Given the description of an element on the screen output the (x, y) to click on. 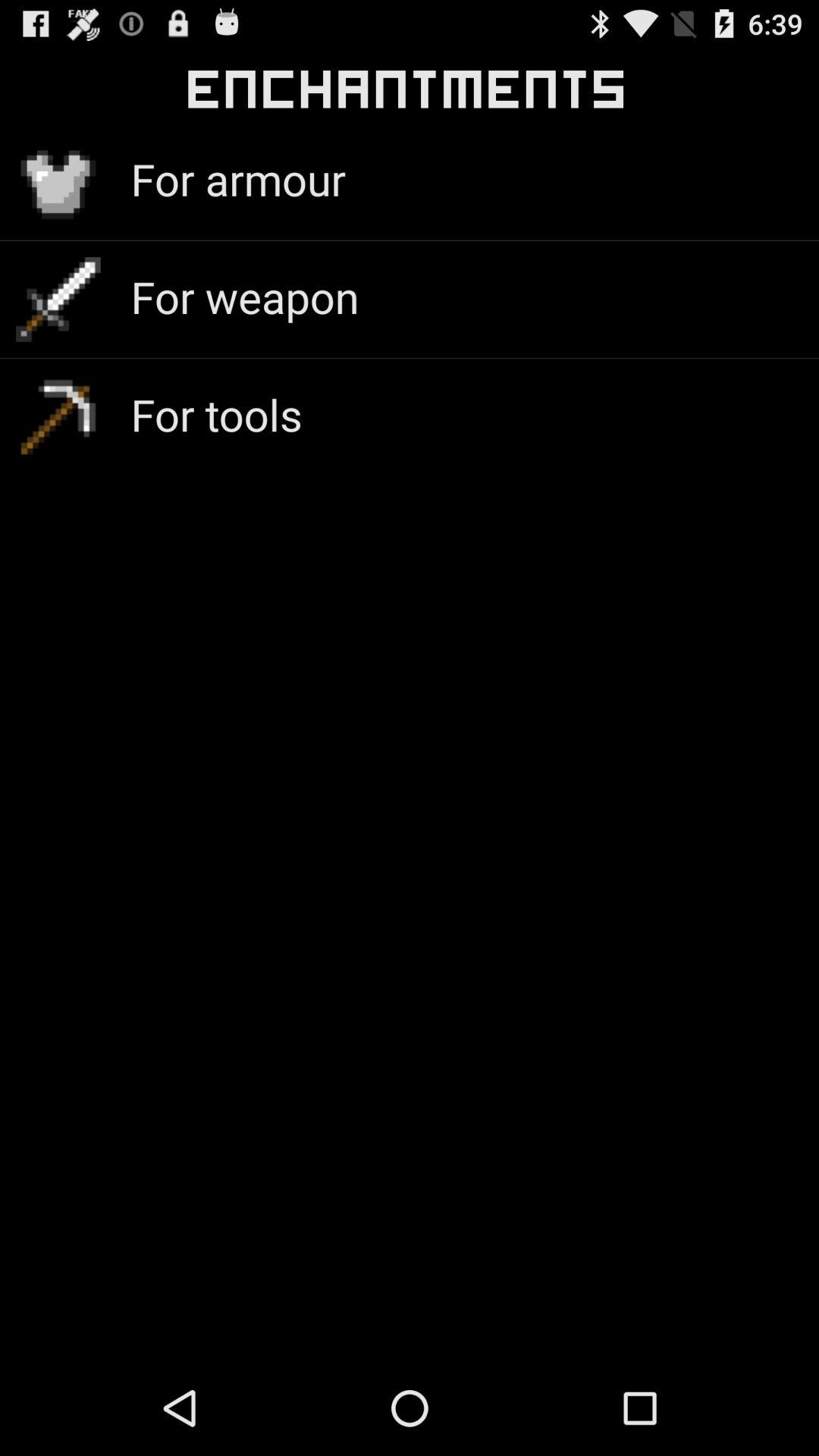
tap for weapon icon (244, 296)
